Given the description of an element on the screen output the (x, y) to click on. 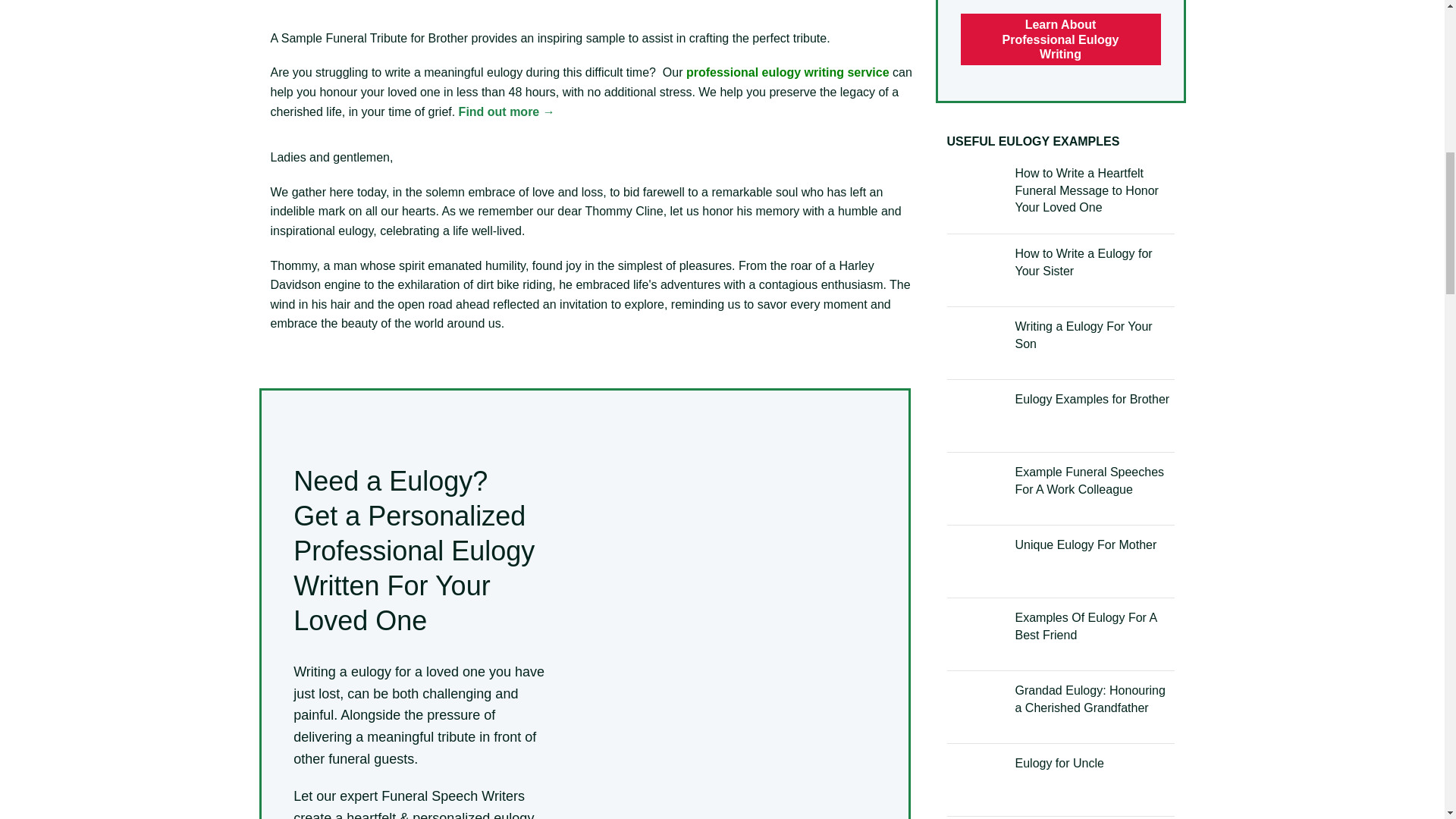
Permalink to Writing a Eulogy For Your Son (1082, 334)
professional eulogy writing service (787, 72)
Permalink to Unique Eulogy For Mother (1085, 544)
Permalink to Example Funeral Speeches For A Work Colleague (1088, 480)
Permalink to How to Write a Eulogy for Your Sister (1082, 261)
Permalink to Eulogy Examples for Brother (1091, 399)
Permalink to Examples Of Eulogy For A Best Friend (1085, 625)
